Given the description of an element on the screen output the (x, y) to click on. 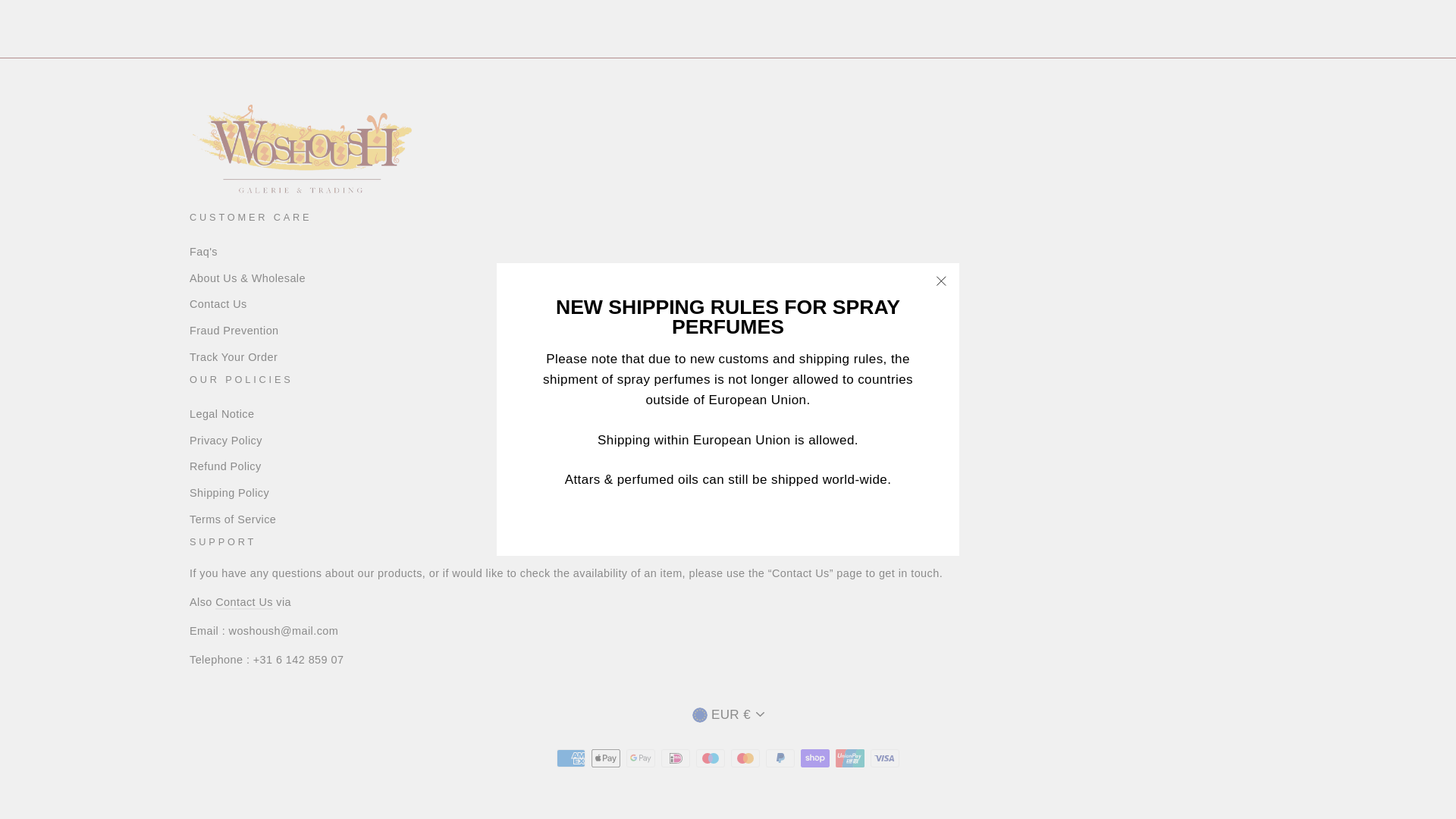
Google Pay (640, 758)
PayPal (779, 758)
Apple Pay (605, 758)
American Express (570, 758)
Shop Pay (814, 758)
Visa (884, 758)
iDEAL (675, 758)
Maestro (710, 758)
Mastercard (745, 758)
Union Pay (849, 758)
